Given the description of an element on the screen output the (x, y) to click on. 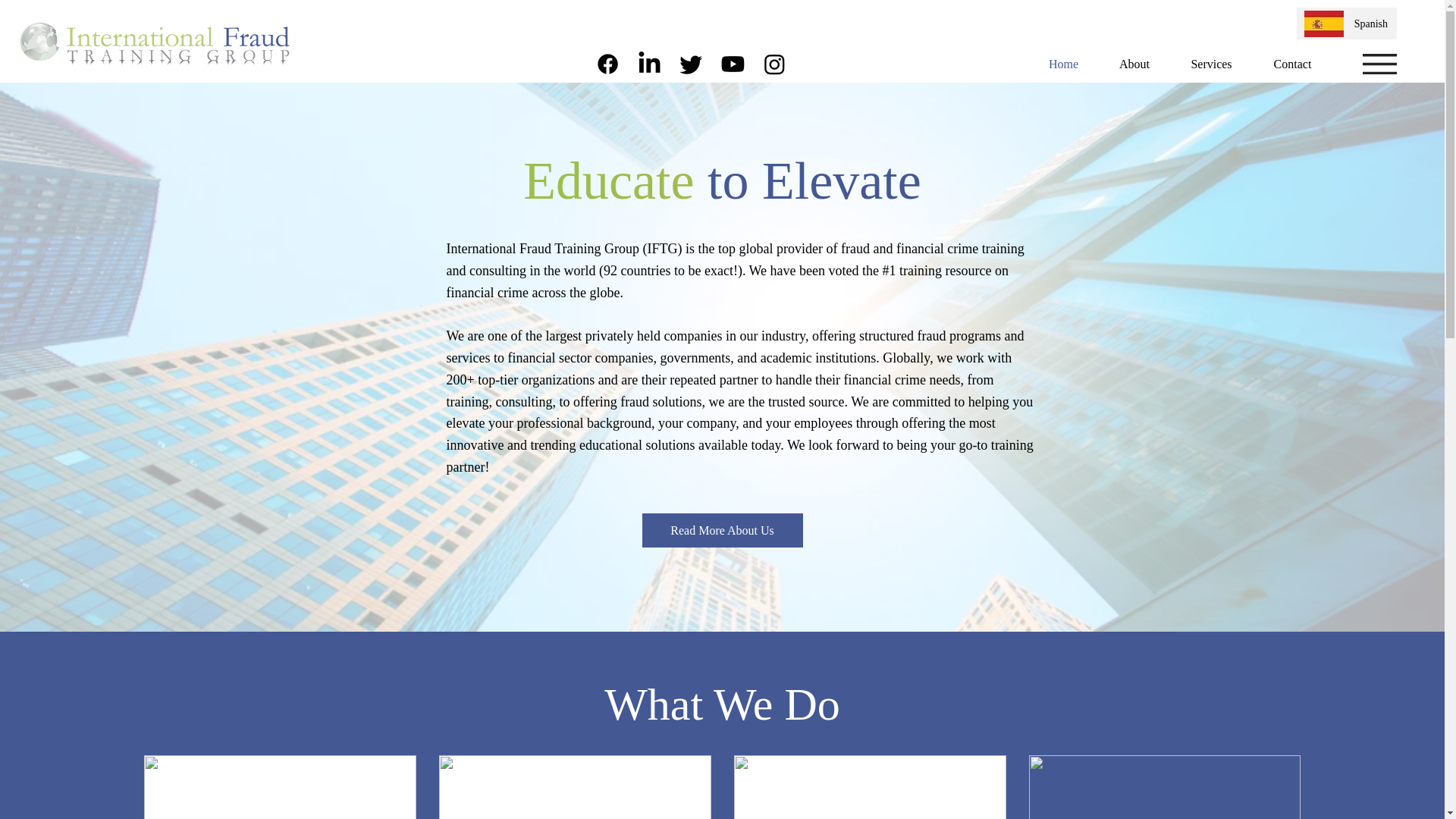
Contact (1292, 64)
Services (1211, 64)
Home (1063, 64)
Read More About Us (722, 530)
About (1134, 64)
Spanish (1367, 24)
